Given the description of an element on the screen output the (x, y) to click on. 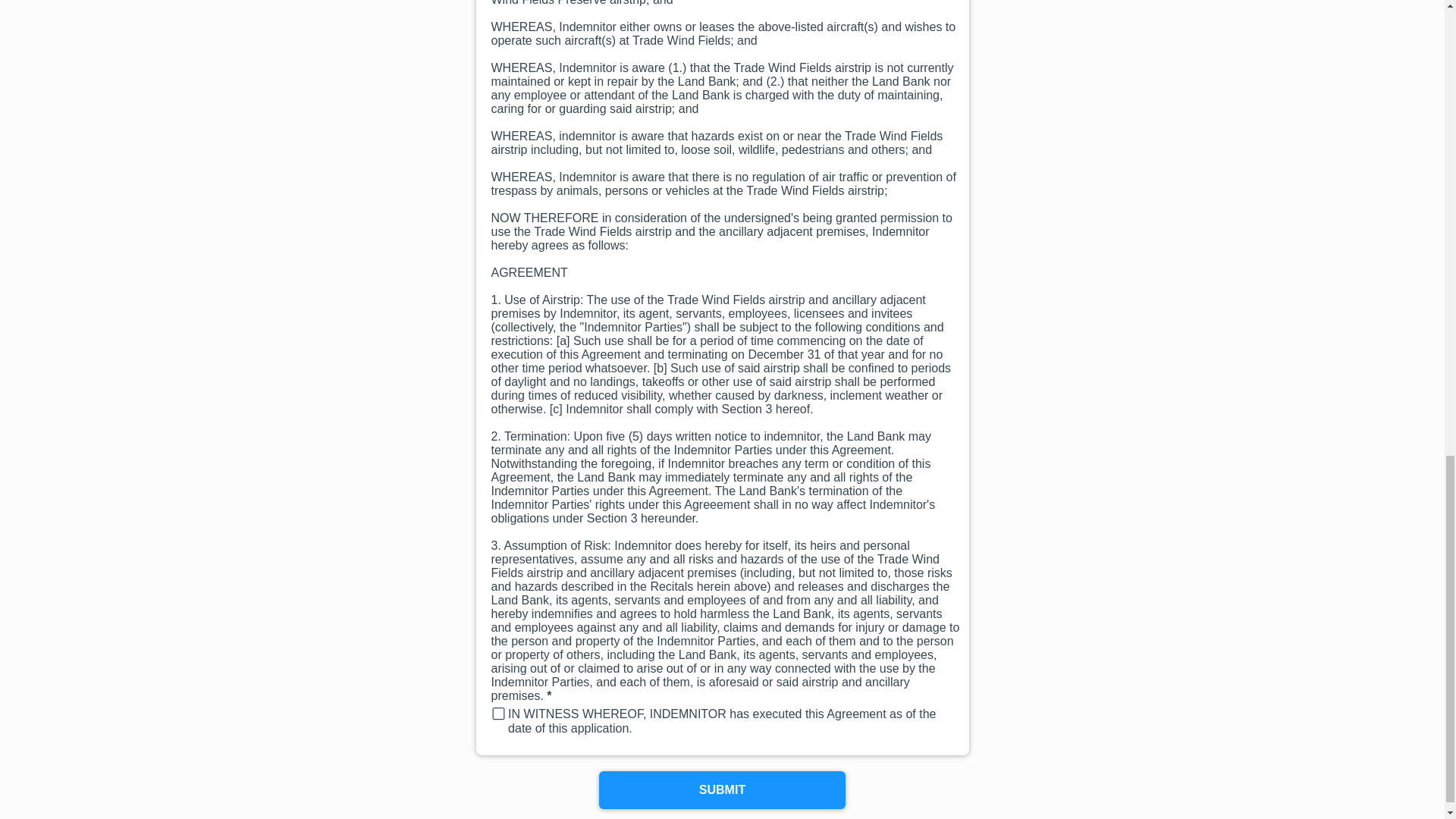
Submit (721, 790)
Submit (721, 790)
